Given the description of an element on the screen output the (x, y) to click on. 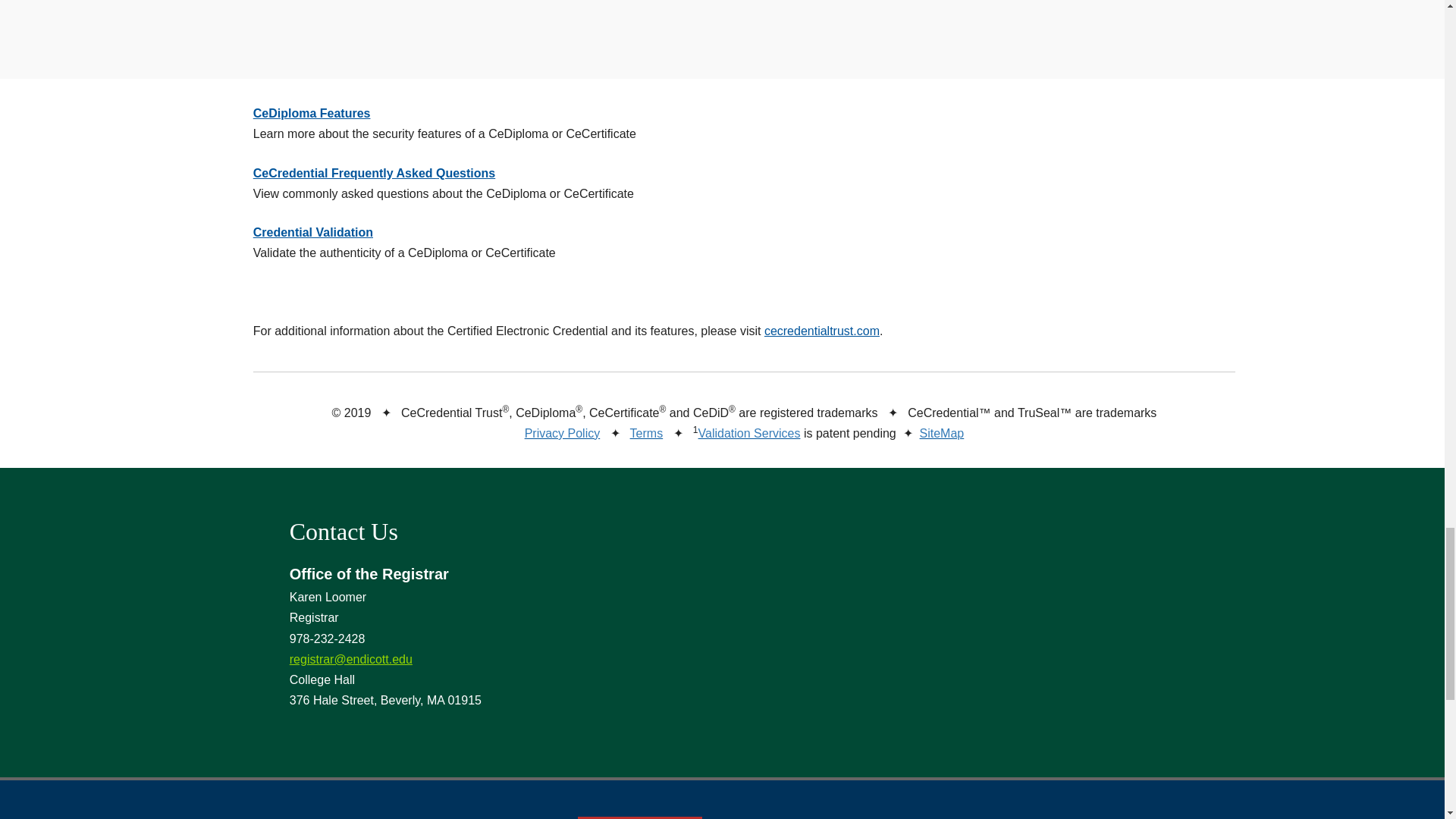
Credential Overview (618, 6)
